Given the description of an element on the screen output the (x, y) to click on. 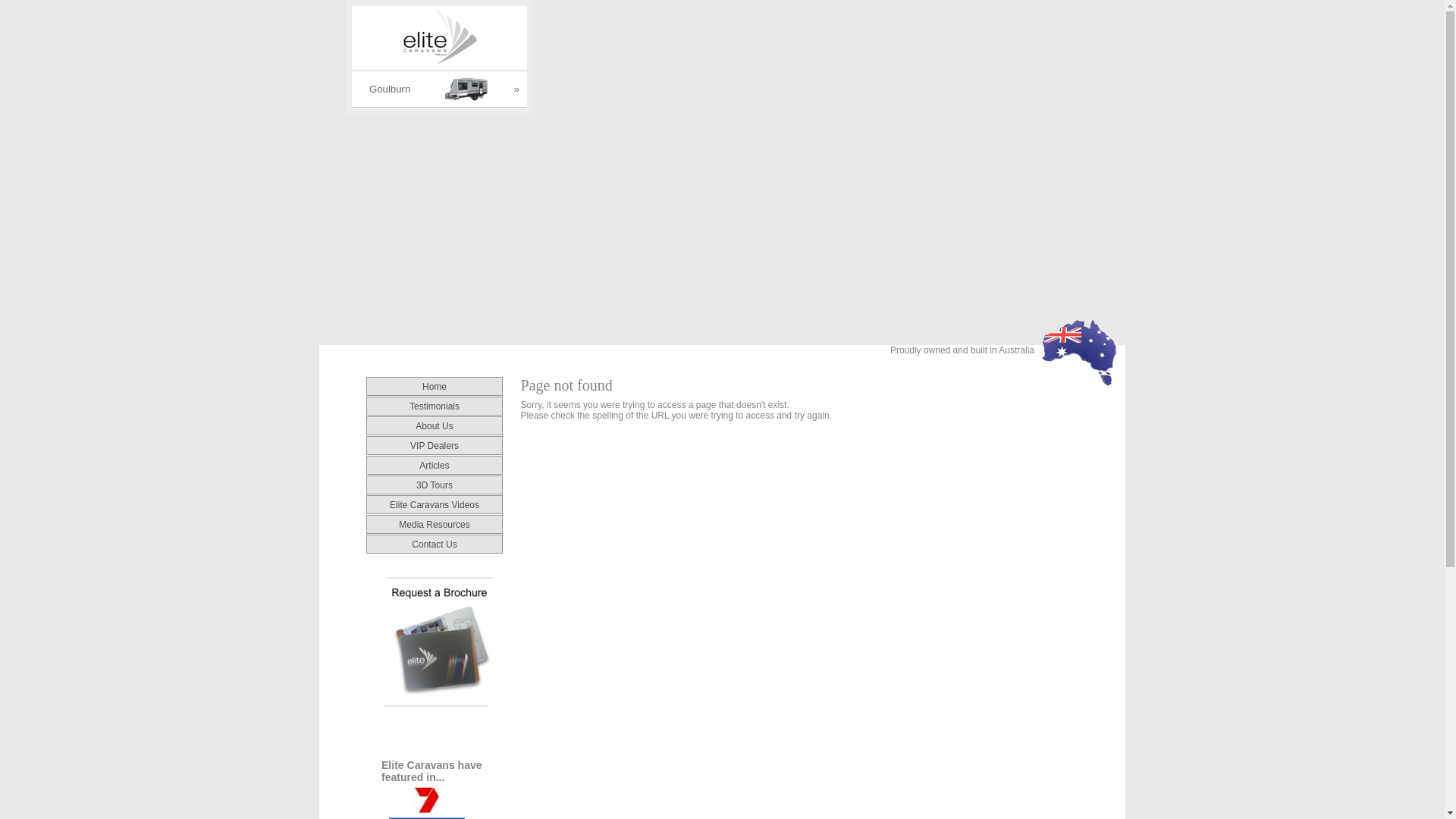
Elite Caravans Videos Element type: text (434, 503)
VIP Dealers Element type: text (434, 444)
Contact Us Element type: text (433, 543)
Testimonials Element type: text (434, 405)
3D Tours Element type: text (434, 484)
About Us Element type: text (433, 425)
Home Element type: text (434, 385)
Articles Element type: text (433, 464)
Media Resources Element type: text (433, 523)
